Given the description of an element on the screen output the (x, y) to click on. 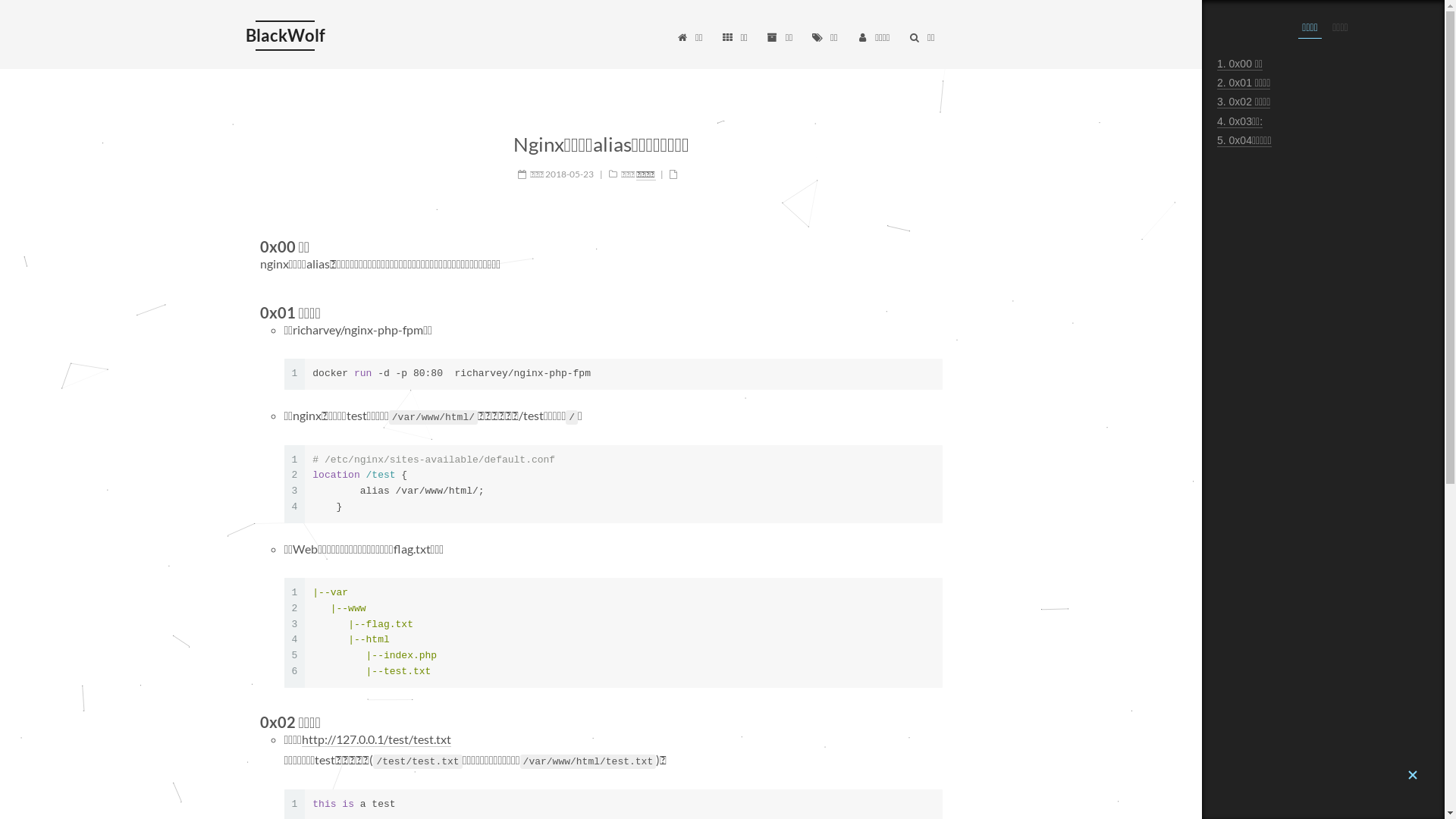
BlackWolf Element type: text (284, 35)
http://127.0.0.1/test/test.txt Element type: text (376, 738)
